Given the description of an element on the screen output the (x, y) to click on. 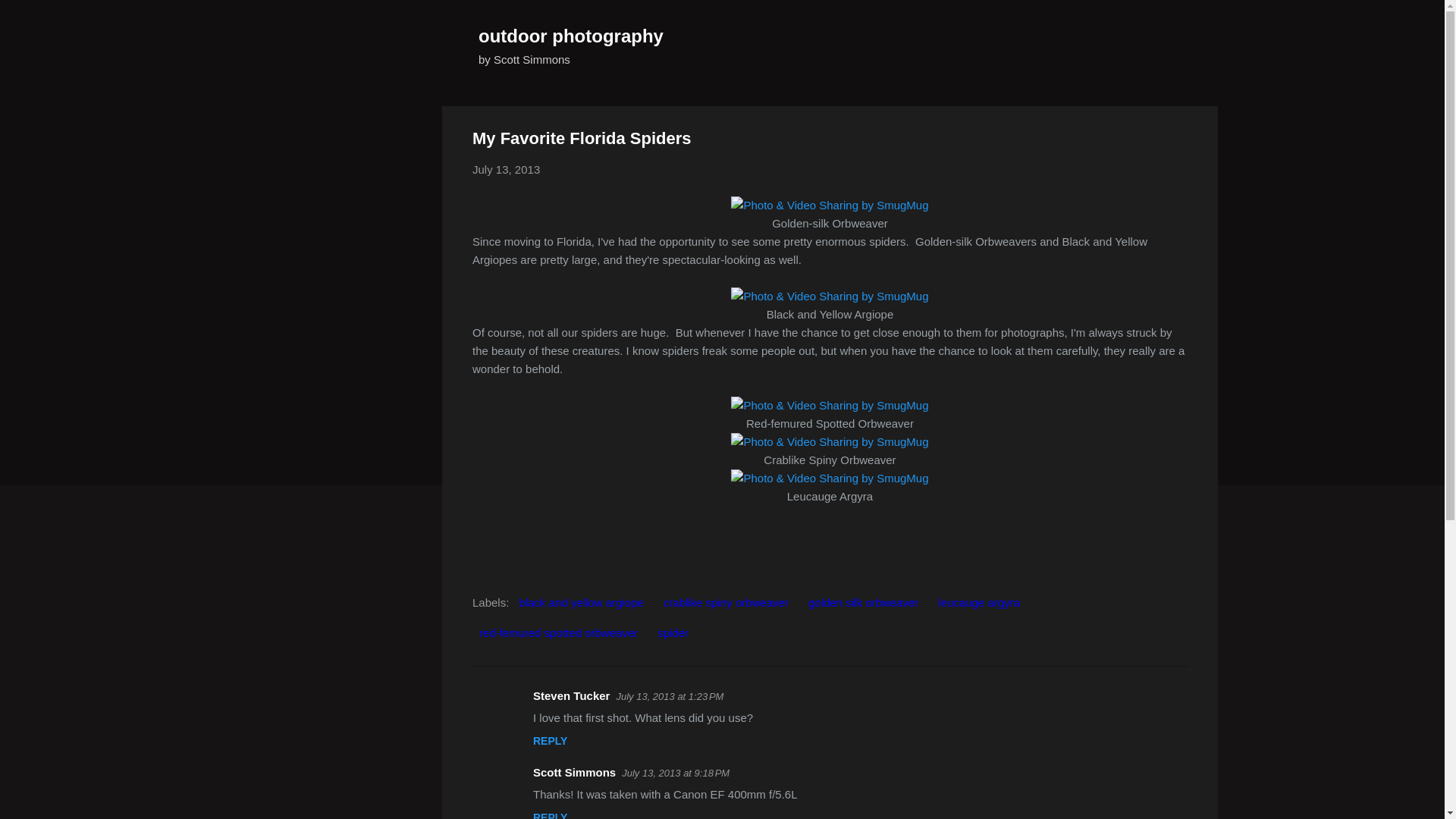
Scott Simmons (573, 771)
July 13, 2013 (505, 169)
crablike spiny orbweaver (725, 601)
spider (672, 631)
permanent link (505, 169)
black and yellow argiope (581, 601)
Search (29, 18)
outdoor photography (571, 35)
red-femured spotted orbweaver (558, 631)
golden silk orbweaver (863, 601)
